Given the description of an element on the screen output the (x, y) to click on. 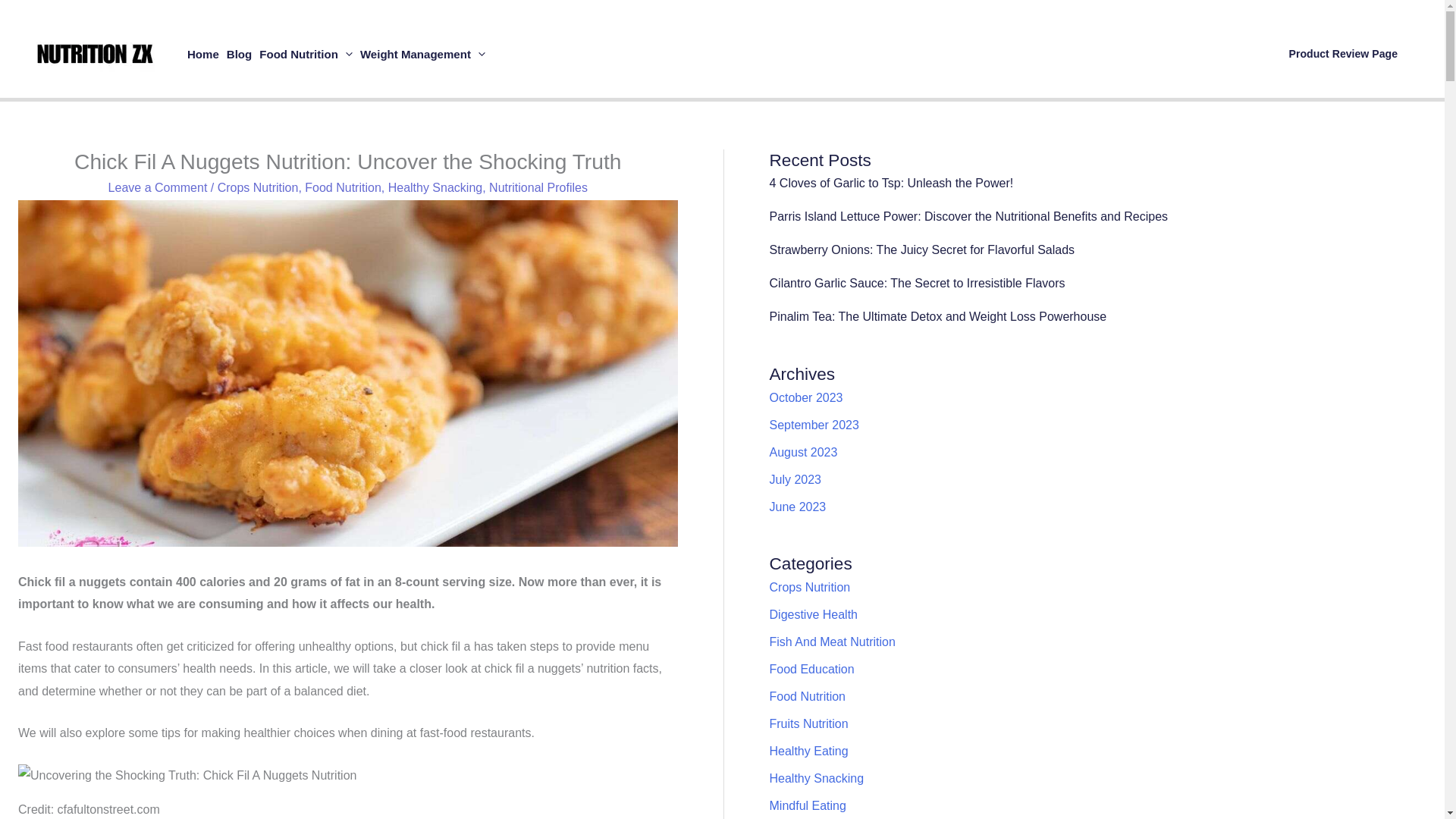
Food Nutrition (306, 53)
Product Review Page (1343, 53)
Weight Management (422, 53)
Crops Nutrition (257, 187)
Leave a Comment (157, 187)
